Given the description of an element on the screen output the (x, y) to click on. 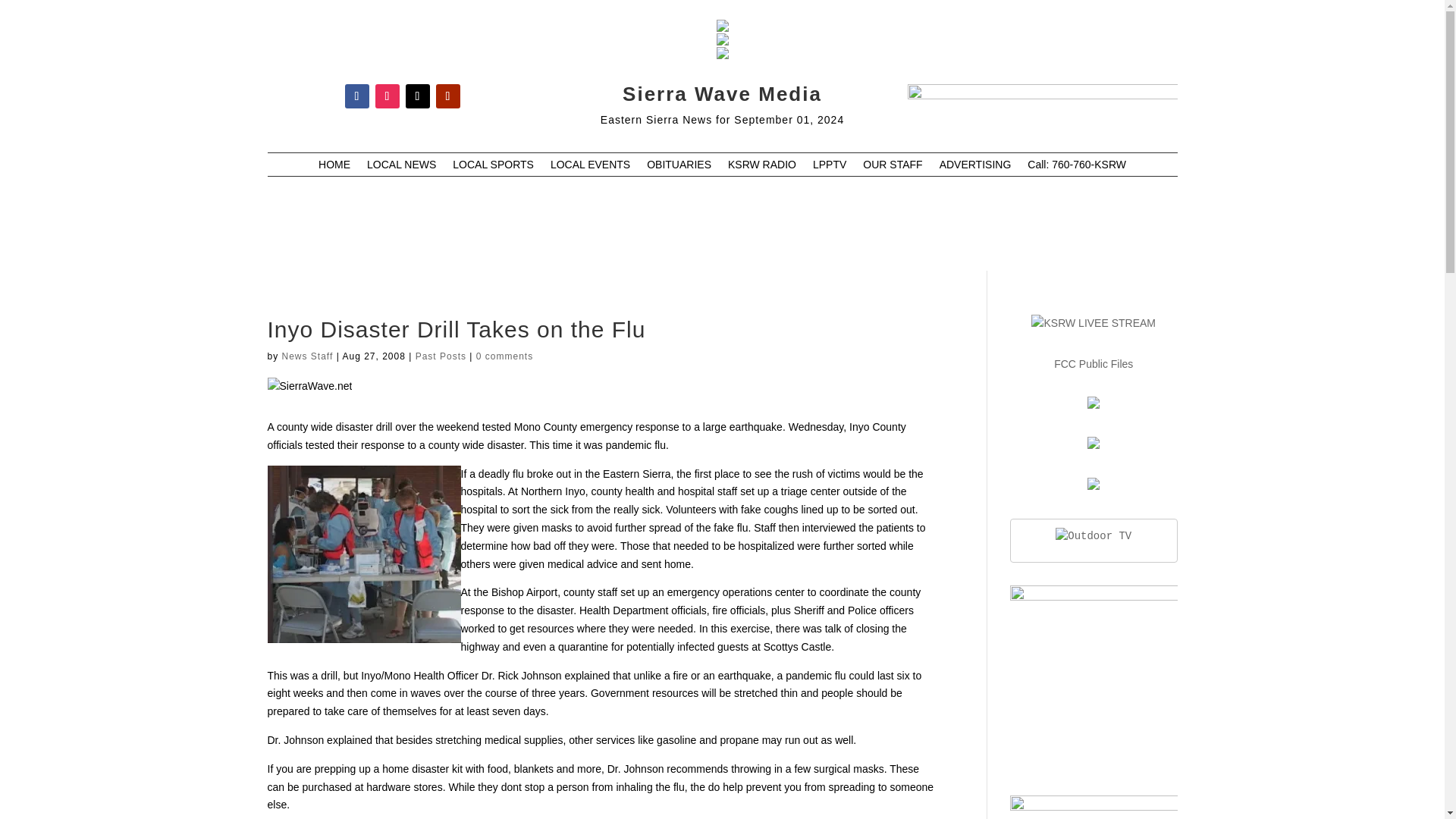
LOCAL SPORTS (493, 167)
Follow on X (416, 96)
Past Posts (439, 356)
Follow on Facebook (355, 96)
OUR STAFF (892, 167)
0 comments (504, 356)
dec (1041, 101)
News Staff (307, 356)
HOME (334, 167)
Follow on Youtube (447, 96)
